Given the description of an element on the screen output the (x, y) to click on. 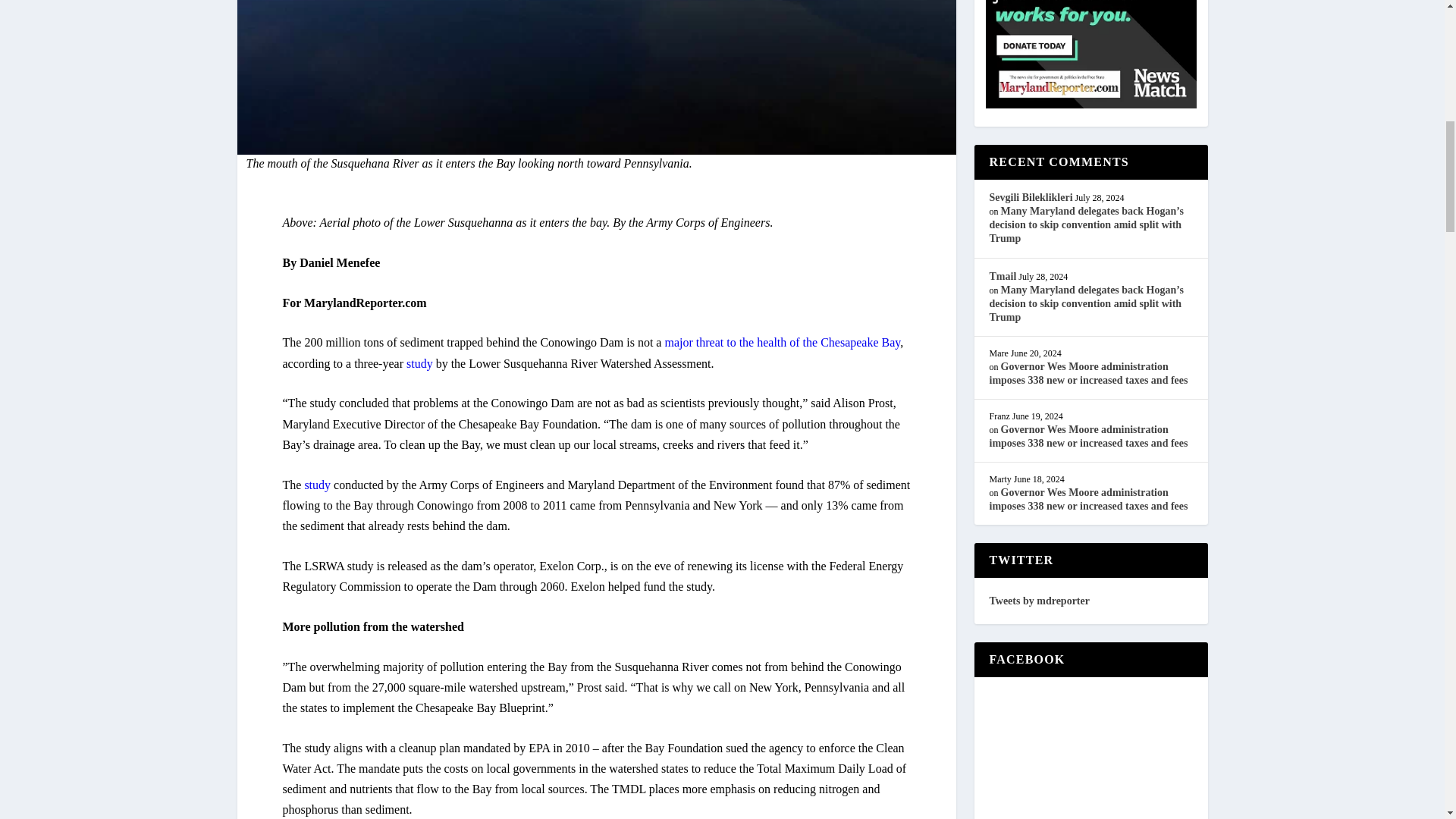
study (315, 484)
major threat to the health of the Chesapeake Bay (781, 341)
study (419, 363)
